Given the description of an element on the screen output the (x, y) to click on. 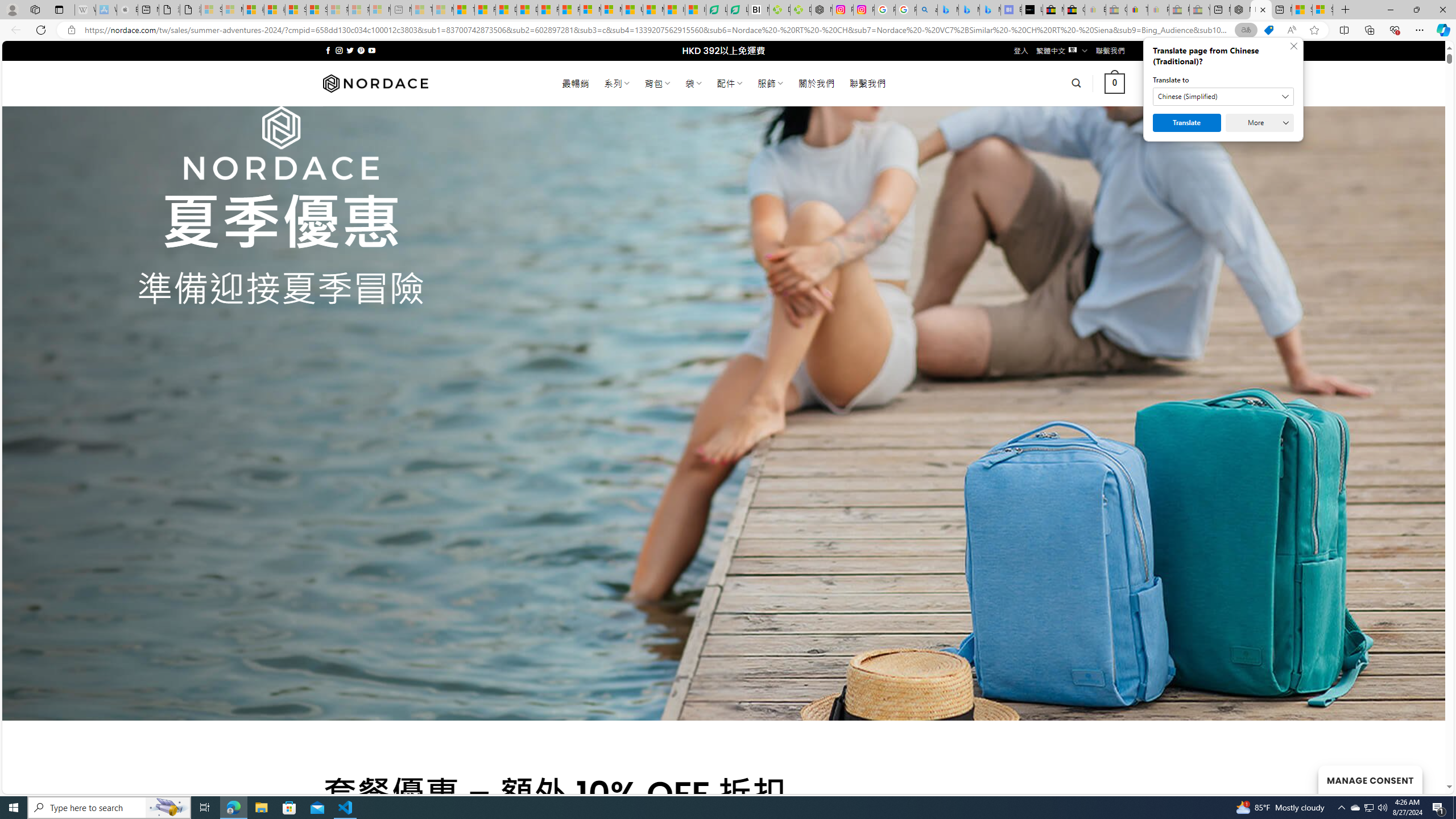
Translate (1187, 122)
Drinking tea every day is proven to delay biological aging (527, 9)
Payments Terms of Use | eBay.com - Sleeping (1157, 9)
Buy iPad - Apple - Sleeping (127, 9)
US Heat Deaths Soared To Record High Last Year (632, 9)
Show translate options (1245, 29)
